Given the description of an element on the screen output the (x, y) to click on. 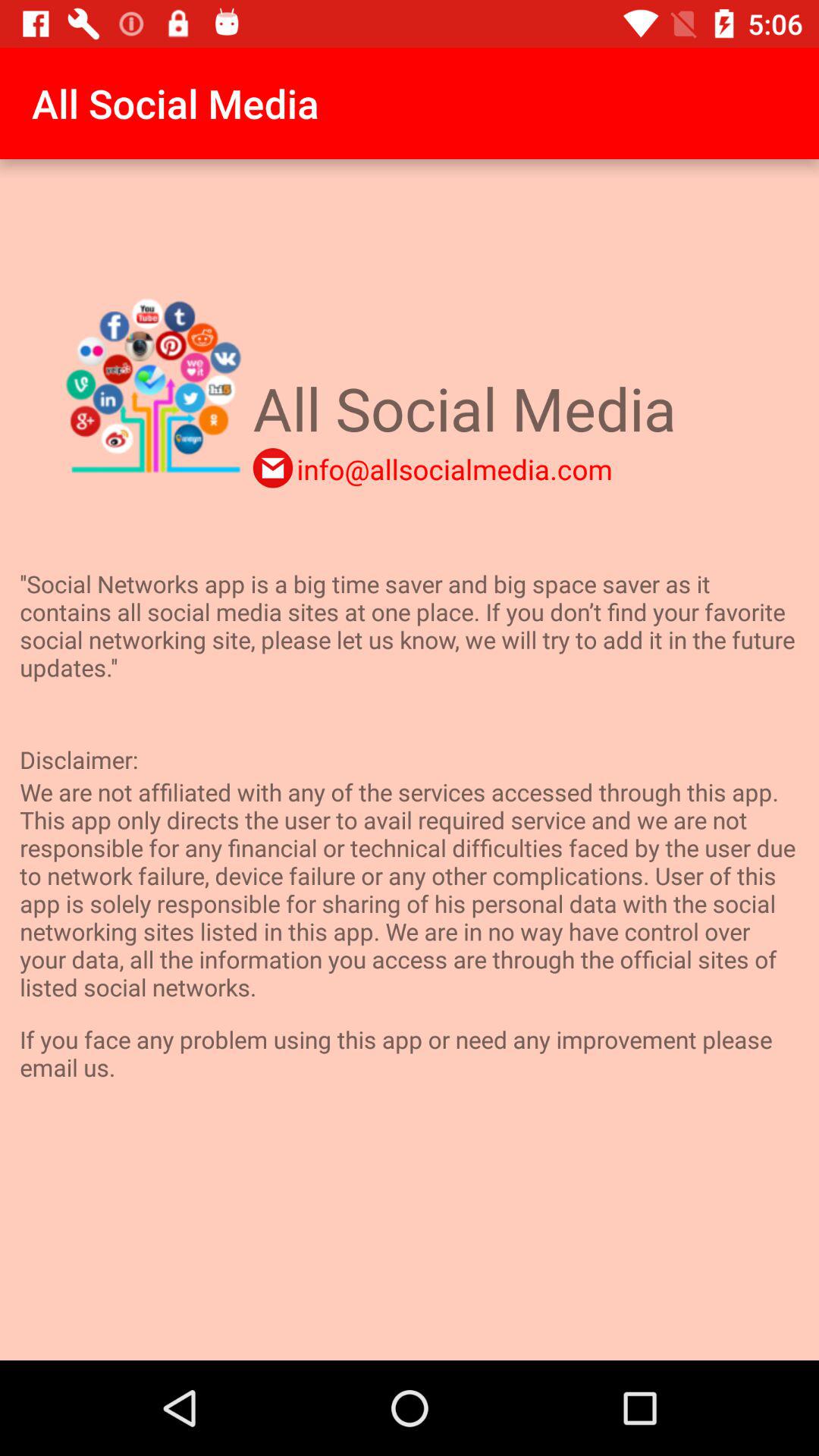
send an email (272, 467)
